Given the description of an element on the screen output the (x, y) to click on. 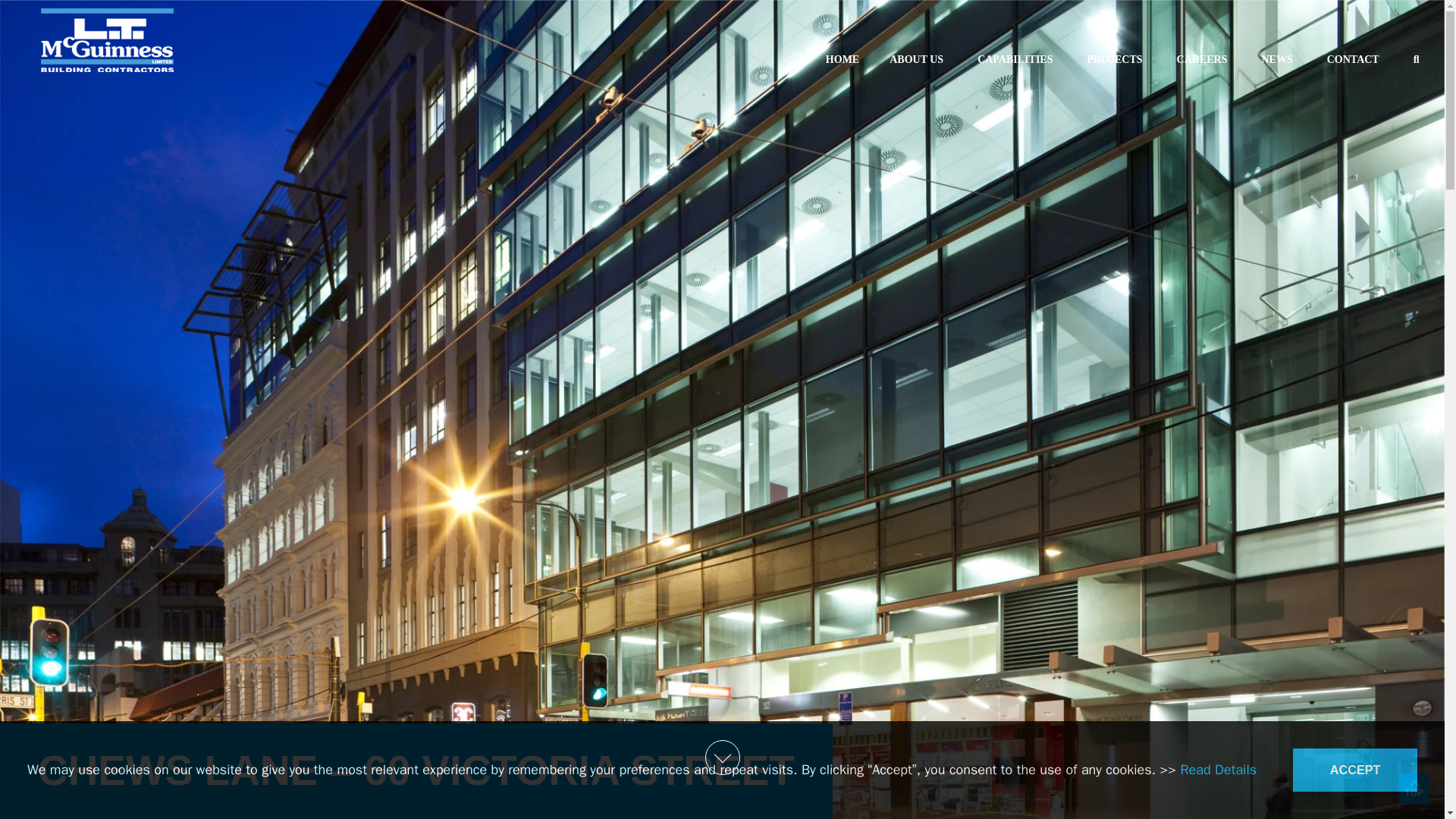
HOME (842, 59)
CAPABILITIES (1016, 59)
PROJECTS (1122, 42)
ABOUT US (1115, 59)
